Given the description of an element on the screen output the (x, y) to click on. 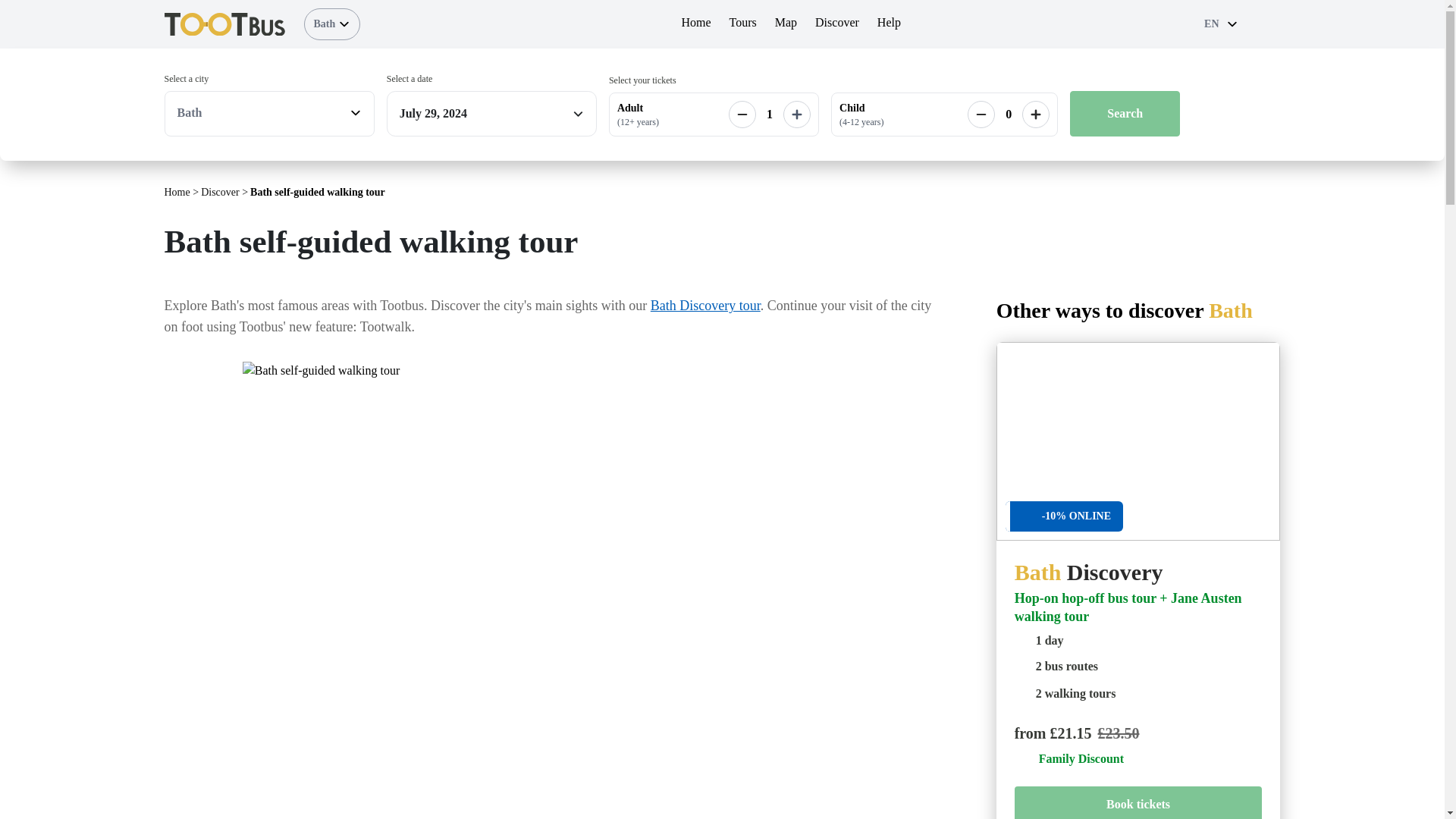
Home (695, 24)
July 29, 2024 (479, 113)
Bath (269, 112)
Discover (836, 24)
Help (889, 24)
Map (785, 24)
Tours (743, 24)
EN (1220, 24)
Bath (330, 24)
